Given the description of an element on the screen output the (x, y) to click on. 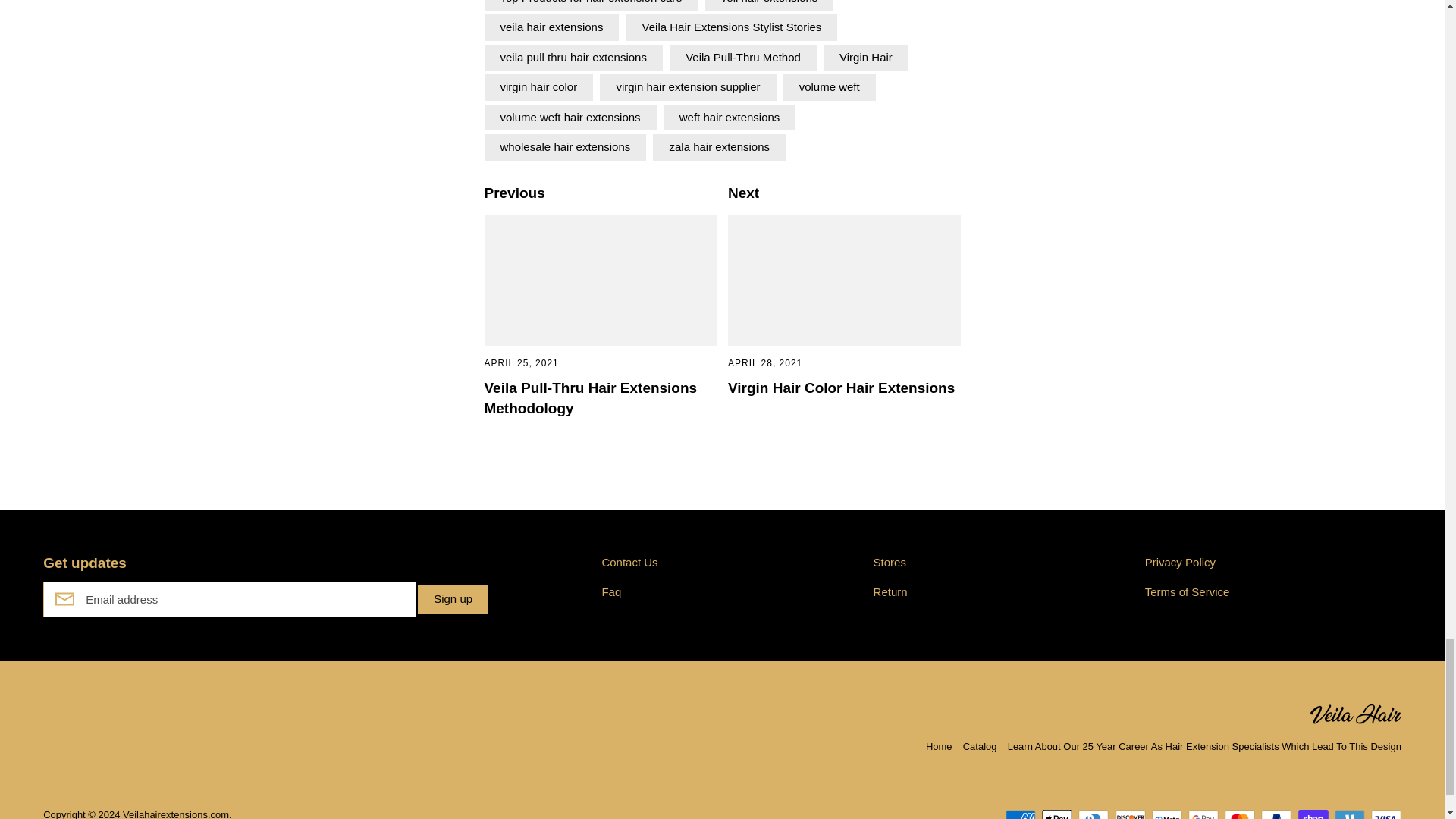
Shop Pay (1312, 814)
Google Pay (1203, 814)
Diners Club (1093, 814)
Discover (1130, 814)
PayPal (1275, 814)
Meta Pay (1166, 814)
Apple Pay (1056, 814)
Venmo (1350, 814)
American Express (1020, 814)
Visa (1385, 814)
